Given the description of an element on the screen output the (x, y) to click on. 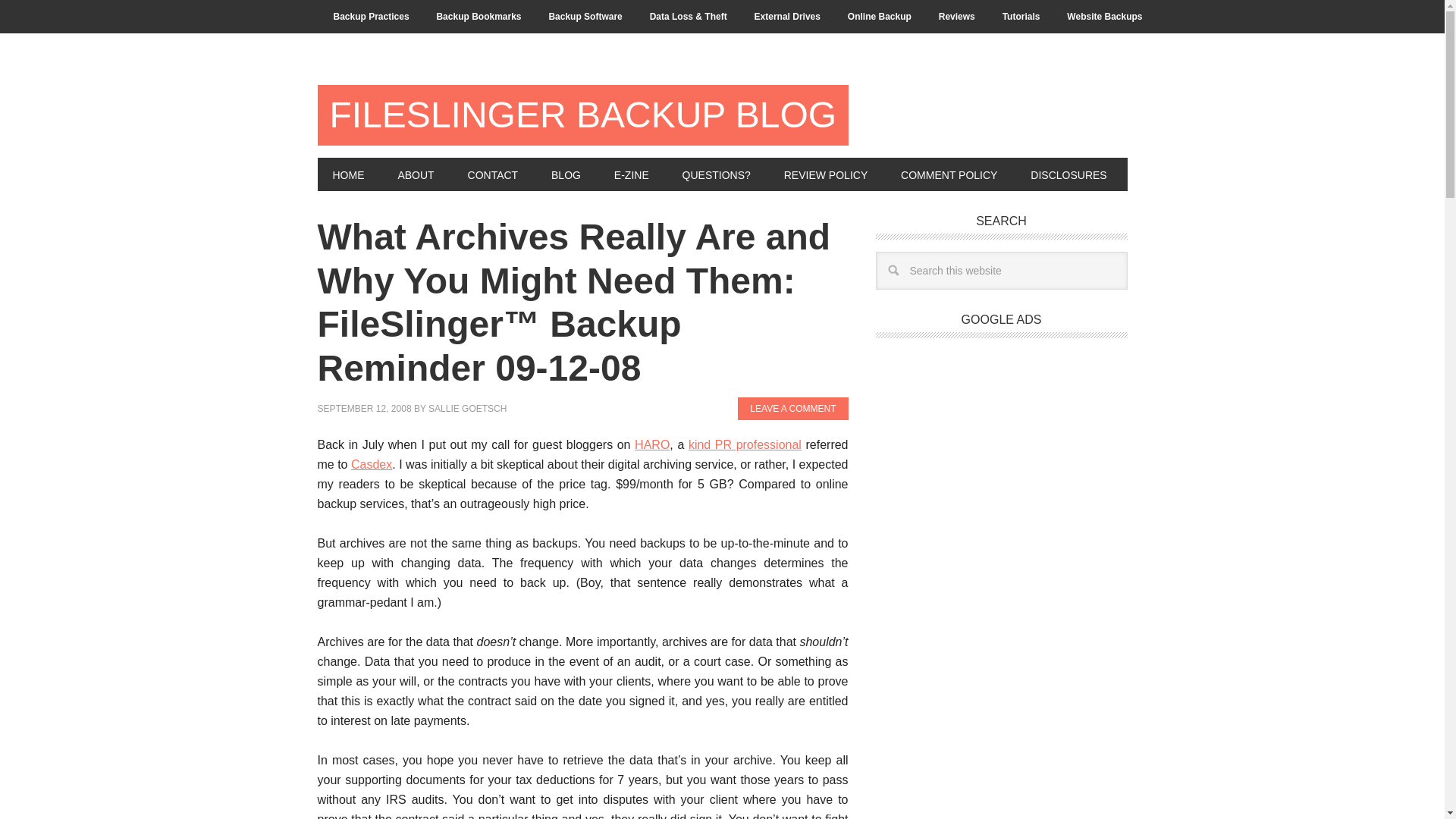
Backup Software (584, 16)
REVIEW POLICY (825, 174)
SALLIE GOETSCH (467, 408)
HOME (347, 174)
FILESLINGER BACKUP BLOG (582, 115)
LEAVE A COMMENT (792, 408)
Reviews (956, 16)
Help A Reporter Out (651, 444)
External Drives (787, 16)
